Given the description of an element on the screen output the (x, y) to click on. 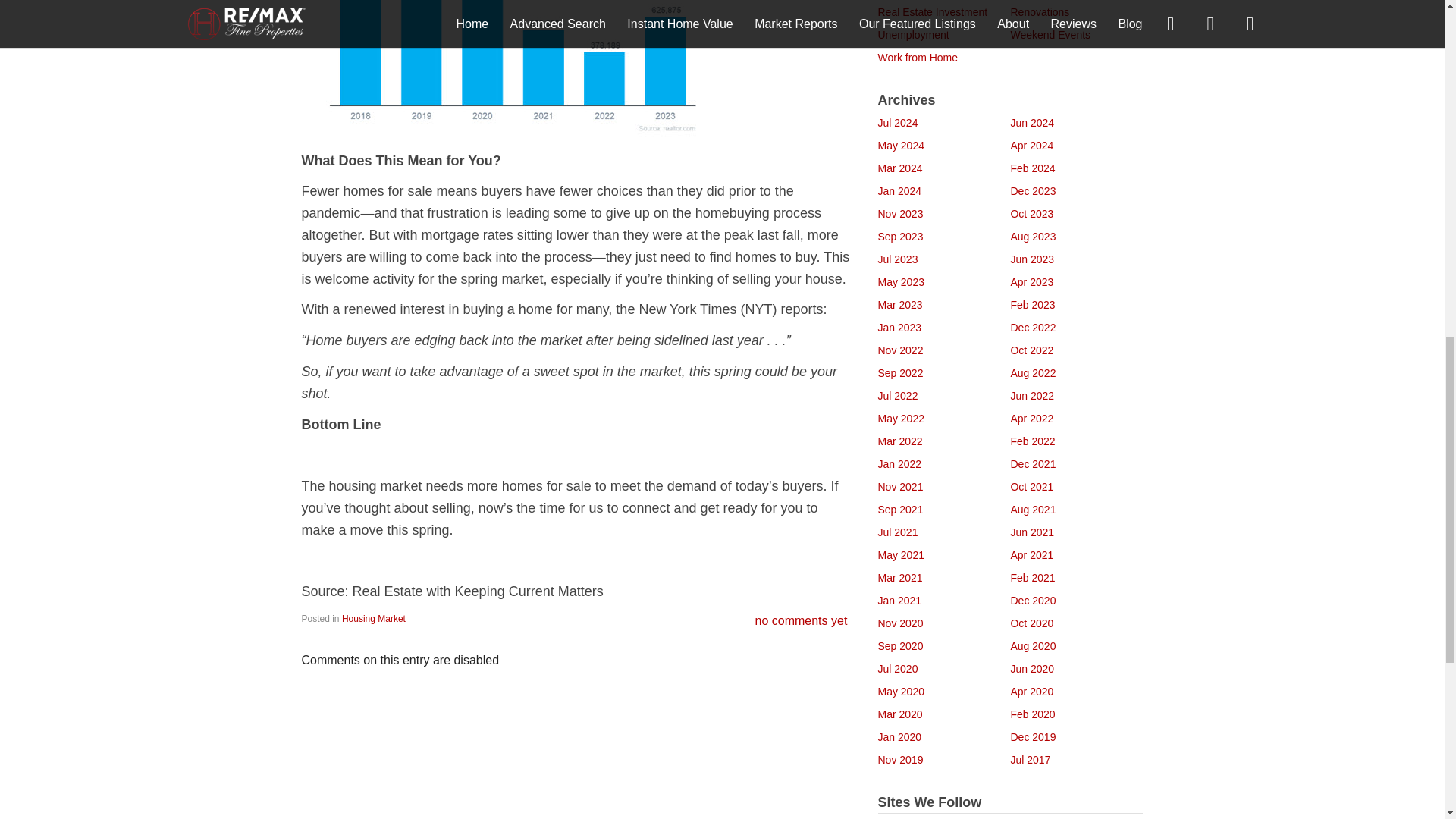
Housing Market (374, 618)
no comments yet (801, 620)
